Given the description of an element on the screen output the (x, y) to click on. 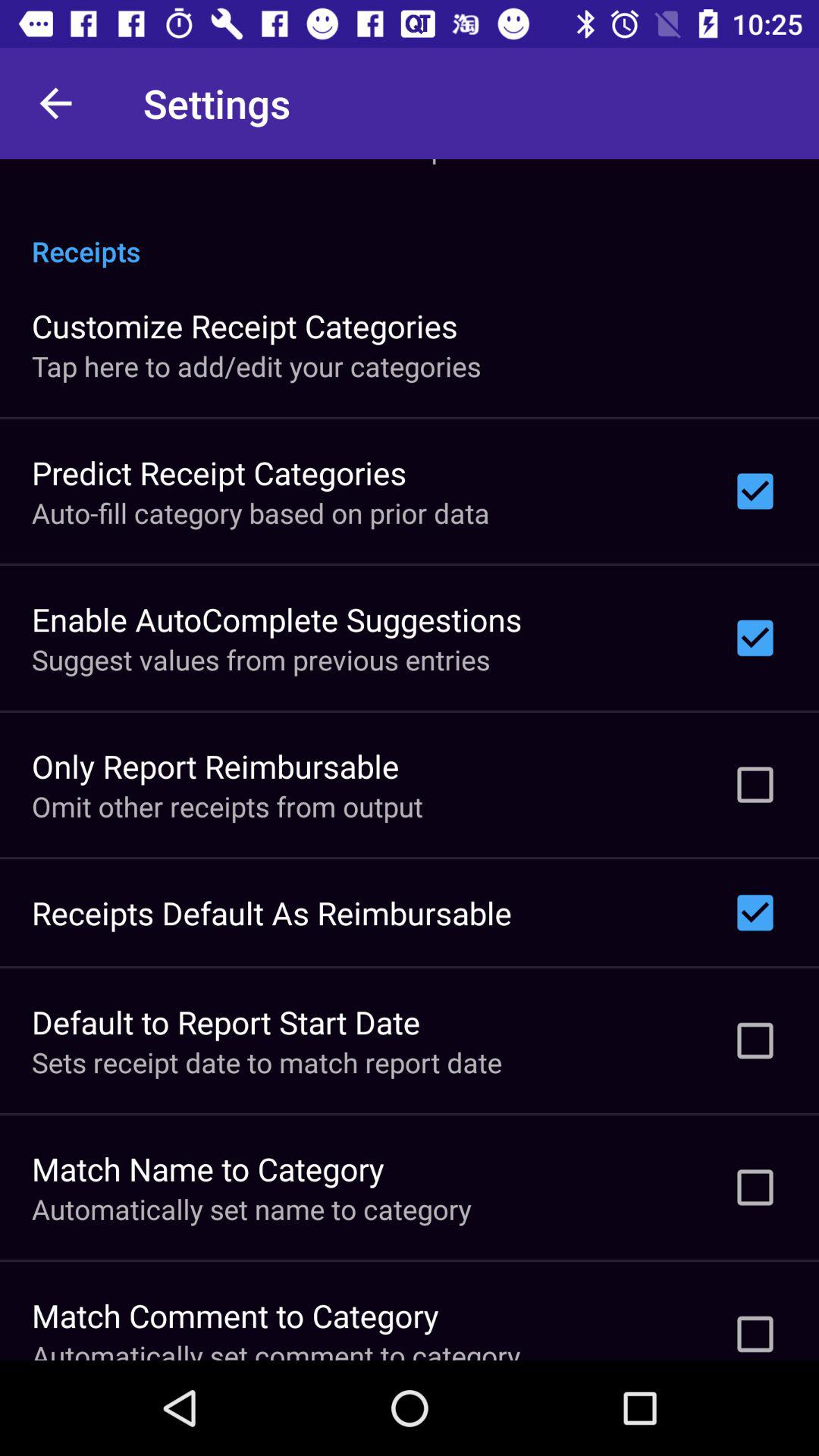
flip until tap here to icon (256, 366)
